Given the description of an element on the screen output the (x, y) to click on. 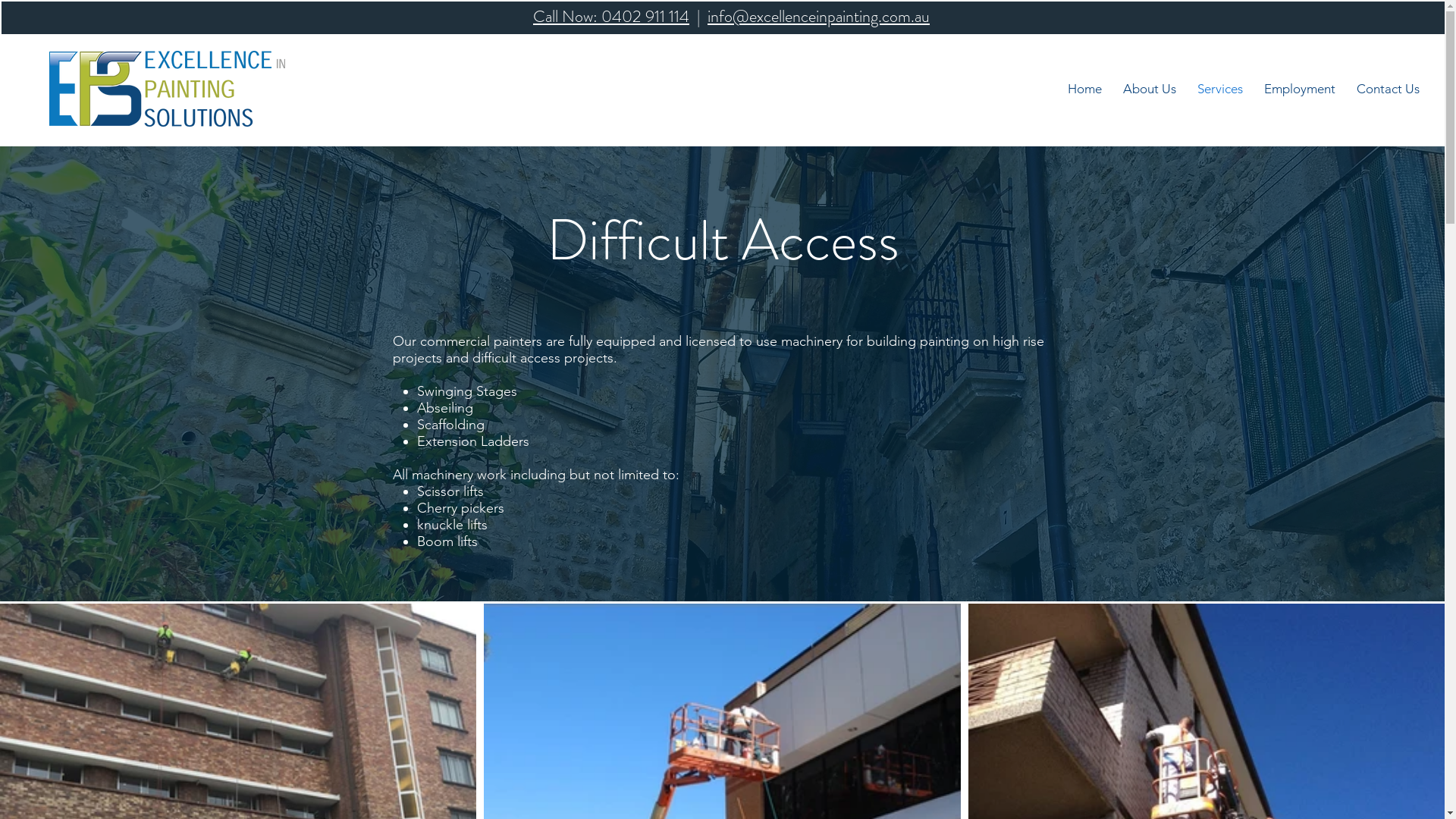
Services Element type: text (1219, 88)
Call Now: 0402 911 114 Element type: text (611, 16)
About Us Element type: text (1149, 88)
Home Element type: text (1084, 88)
Employment Element type: text (1299, 88)
info@excellenceinpainting.com.au Element type: text (818, 16)
Contact Us Element type: text (1387, 88)
